Given the description of an element on the screen output the (x, y) to click on. 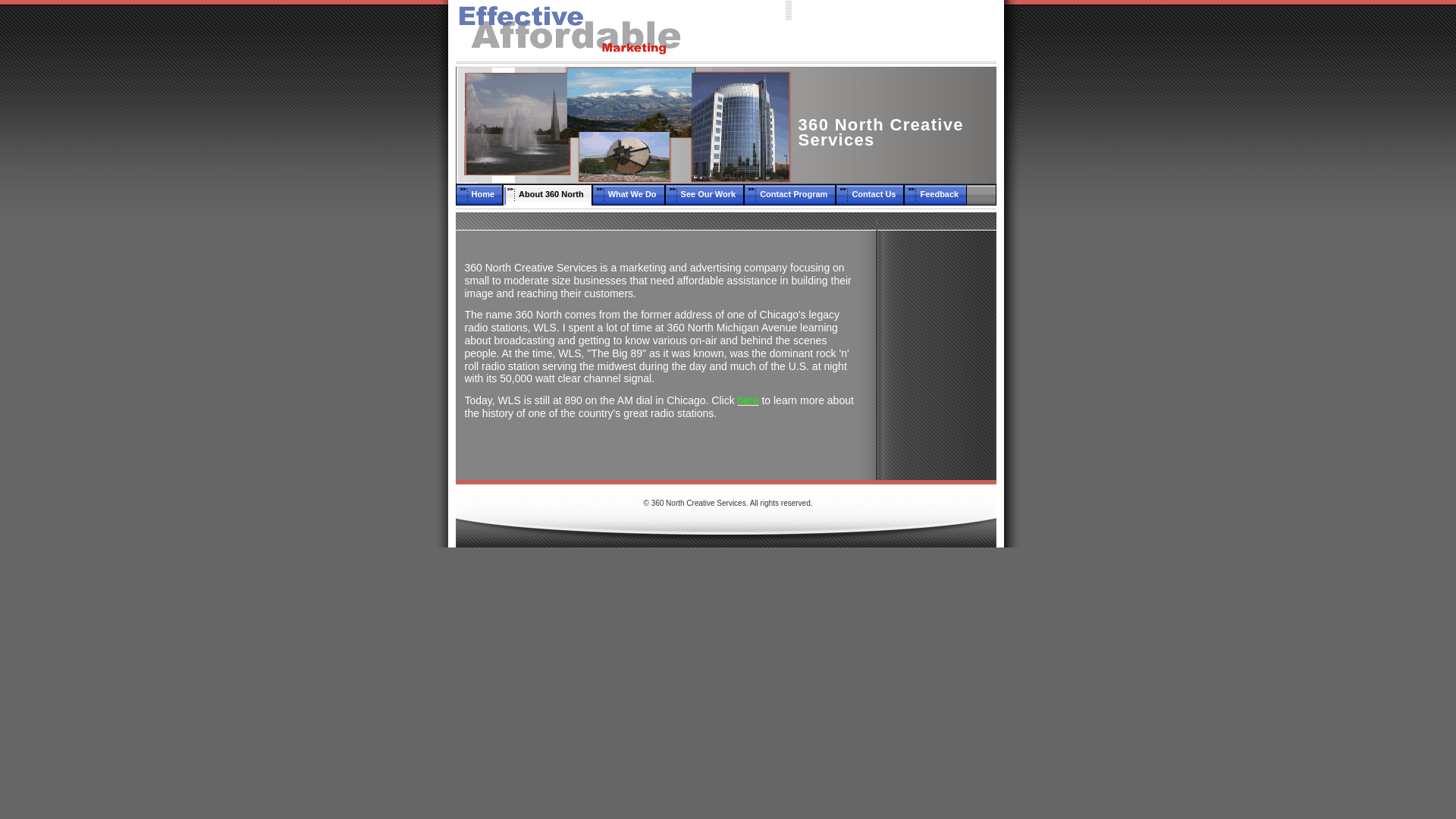
About 360 North (547, 195)
Home (479, 195)
Contact Us (868, 195)
here (748, 400)
Feedback (935, 195)
Contact Program (789, 195)
See Our Work (704, 195)
What We Do (627, 195)
